Given the description of an element on the screen output the (x, y) to click on. 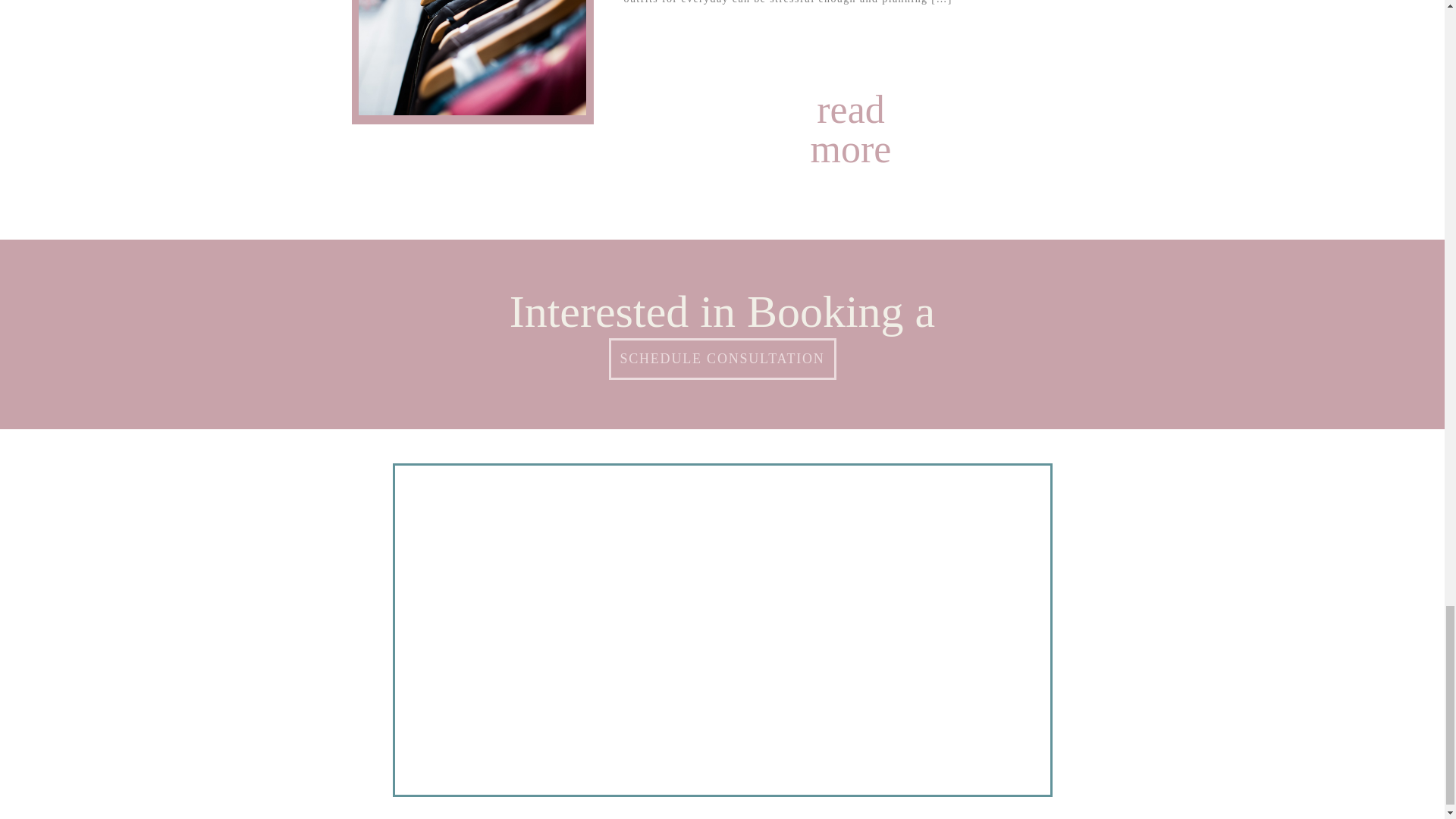
read more (850, 104)
How to Decide What to Wear to Your Photo Session (850, 104)
SCHEDULE CONSULTATION (721, 359)
How to Decide What to Wear to Your Photo Session (471, 57)
